Given the description of an element on the screen output the (x, y) to click on. 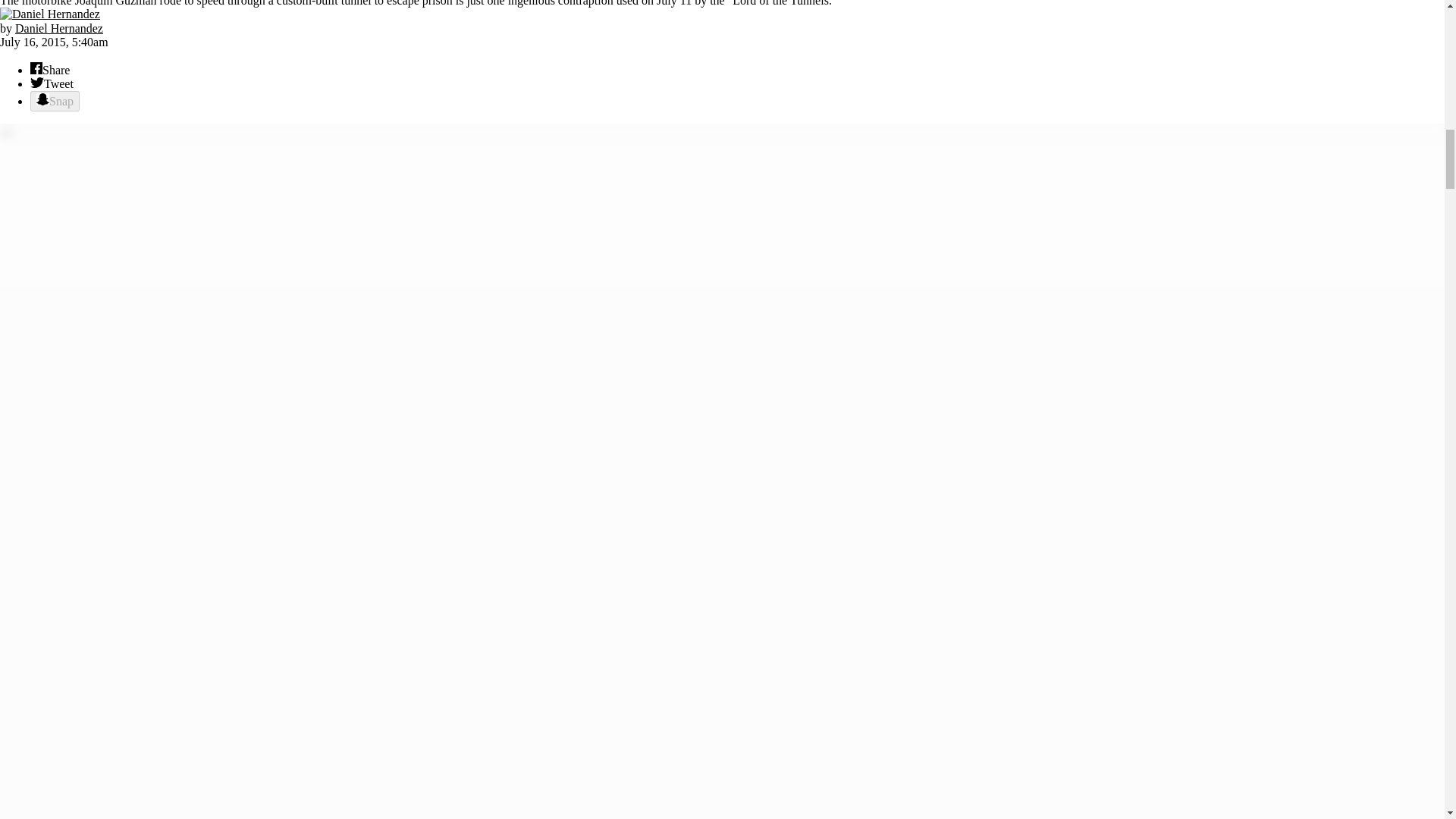
Share on Snapchat (55, 100)
